Given the description of an element on the screen output the (x, y) to click on. 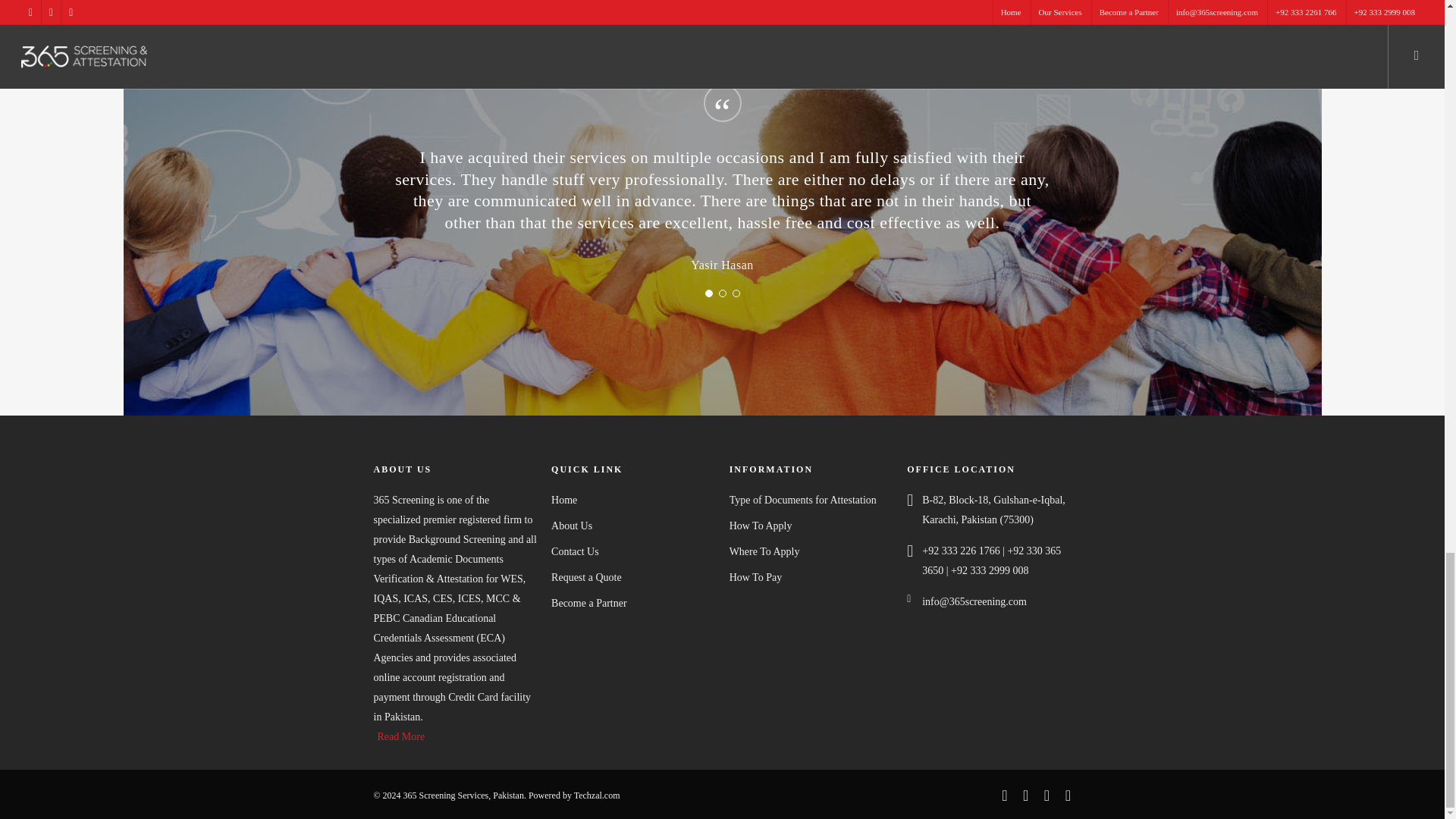
Become a Partner (632, 603)
Contact Us (632, 551)
Home (632, 500)
Request a Quote (632, 578)
Read More (401, 736)
About Us (632, 526)
